Given the description of an element on the screen output the (x, y) to click on. 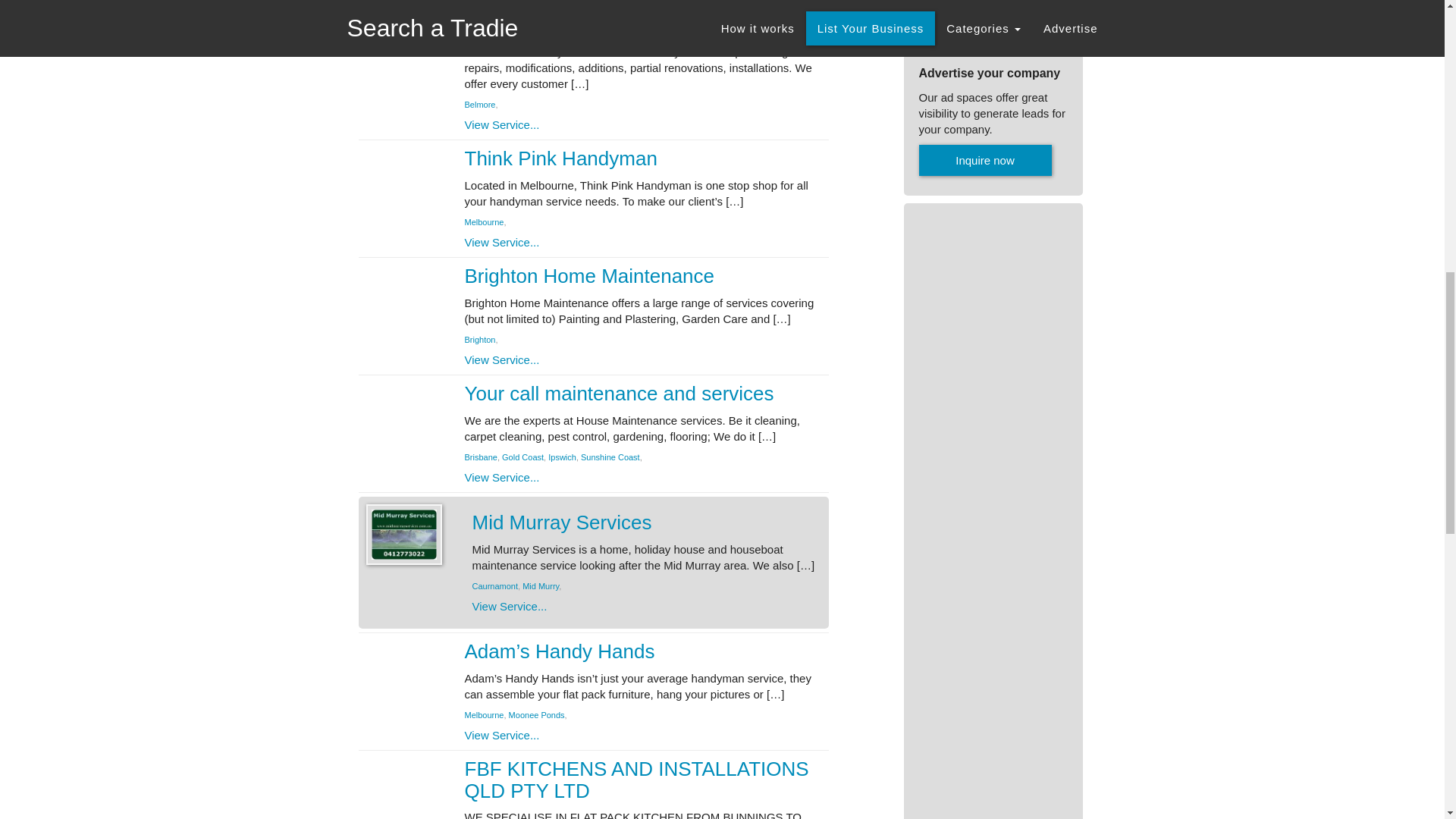
View Service... (501, 124)
Belmore (479, 103)
